Given the description of an element on the screen output the (x, y) to click on. 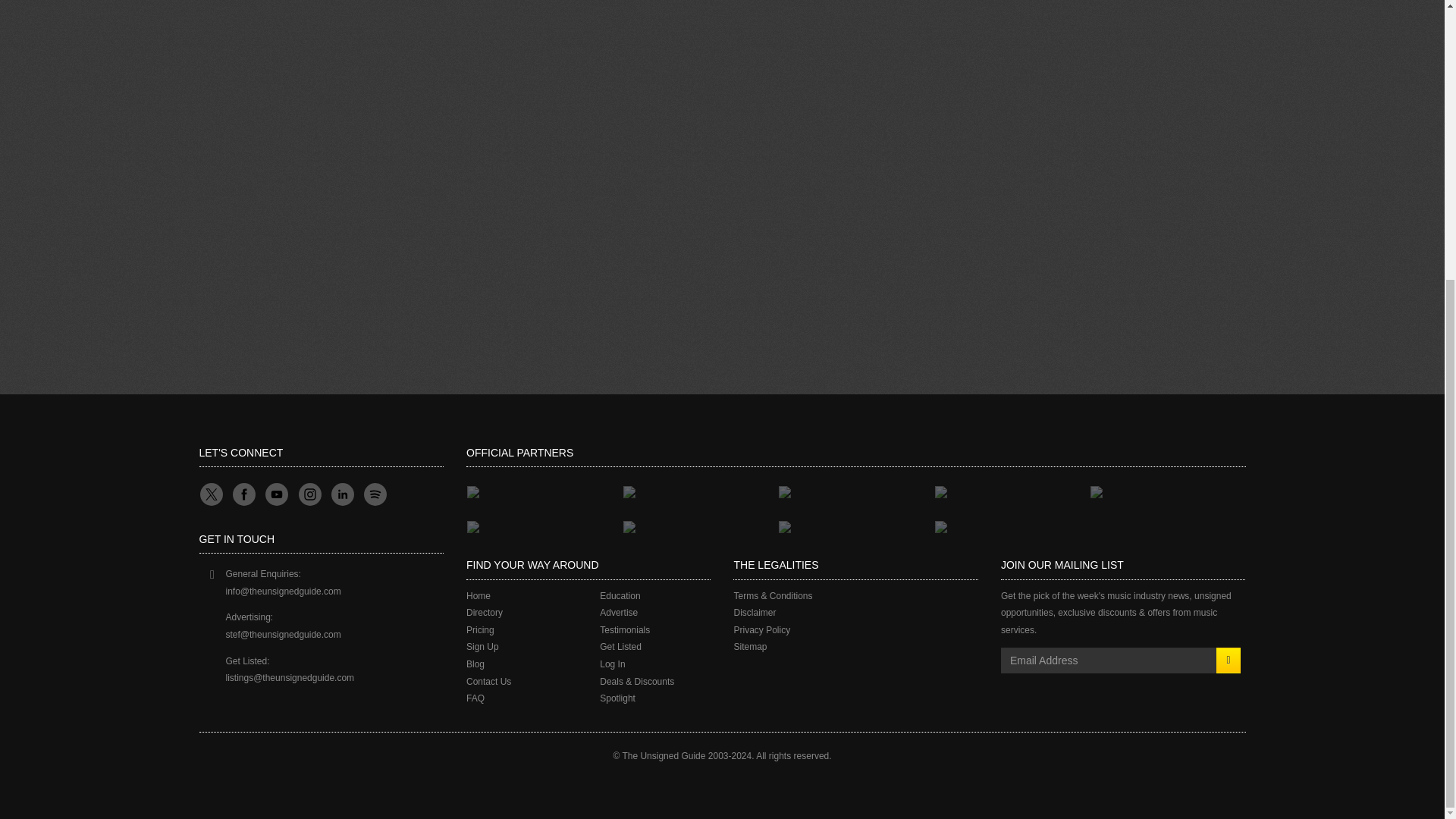
Facebook (242, 493)
Instagram (309, 493)
E-mail Address (1108, 660)
Twitter (209, 493)
LinkedIn (341, 493)
YouTube (275, 493)
Spotify (373, 493)
